Given the description of an element on the screen output the (x, y) to click on. 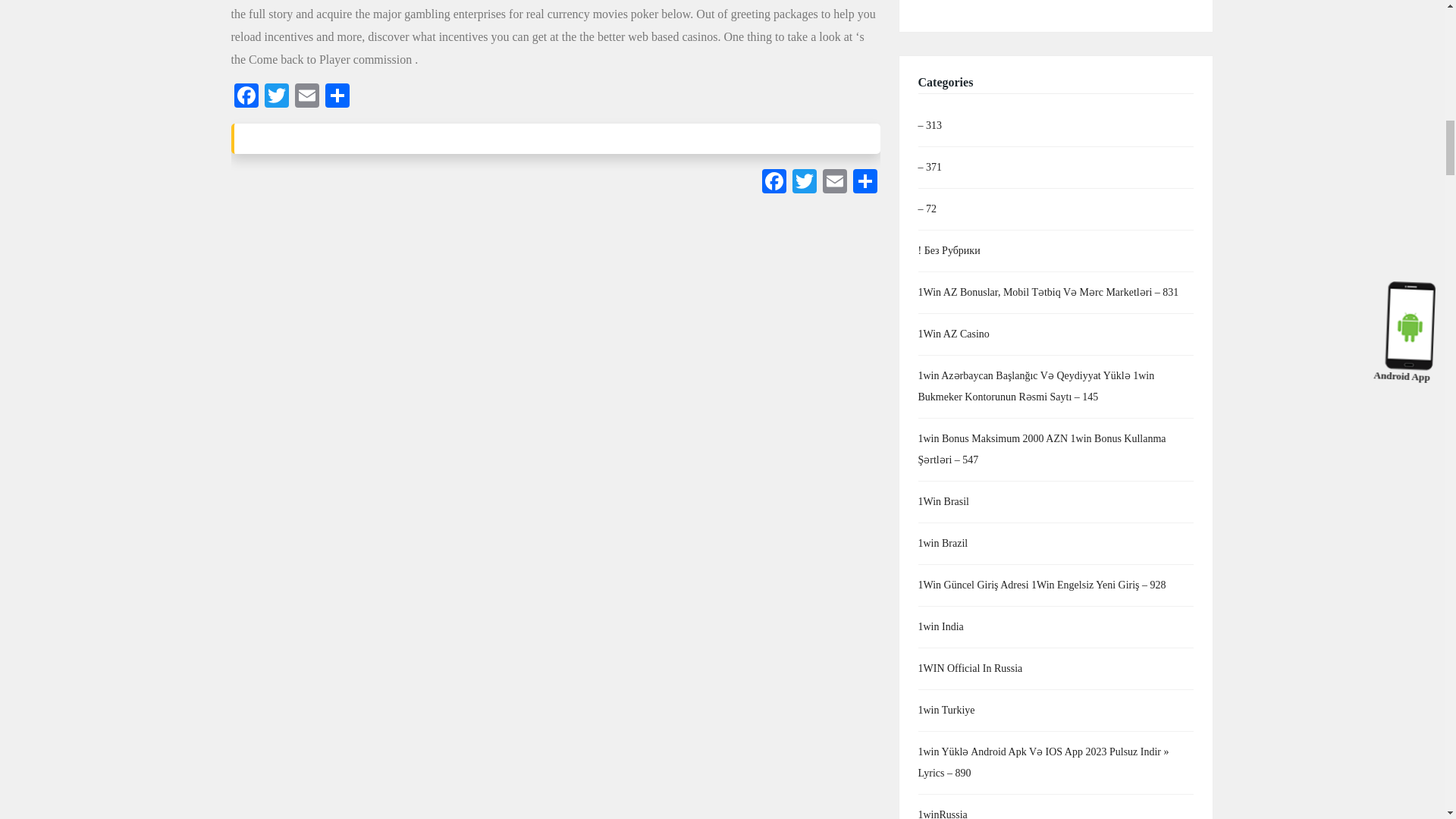
Email (833, 182)
Email (306, 97)
Facebook (773, 182)
Facebook (245, 97)
Twitter (275, 97)
Twitter (803, 182)
Twitter (275, 97)
Share (336, 97)
Facebook (245, 97)
Twitter (803, 182)
Facebook (773, 182)
Email (306, 97)
